Given the description of an element on the screen output the (x, y) to click on. 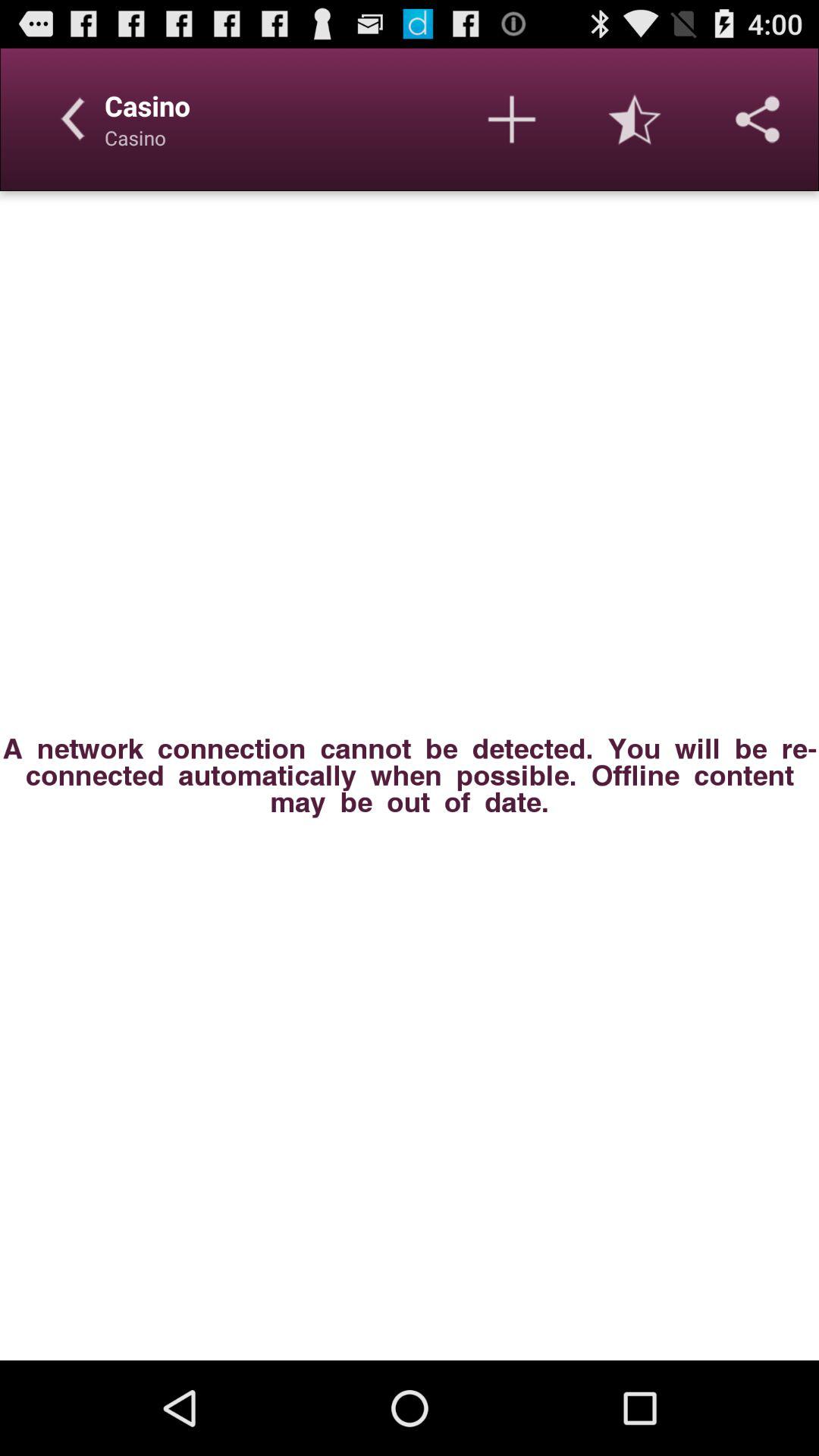
share button (757, 119)
